Given the description of an element on the screen output the (x, y) to click on. 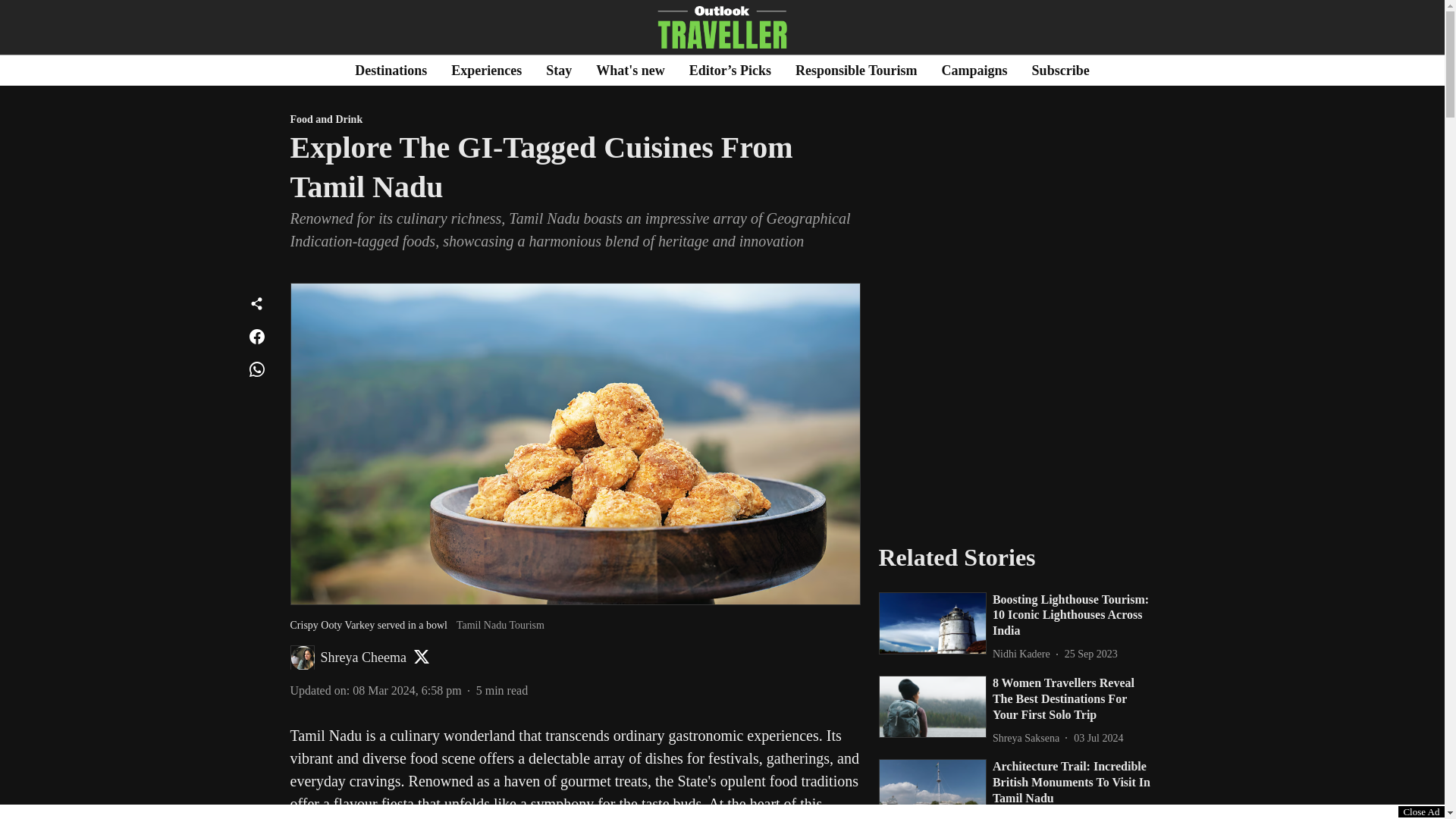
Subscribe (1060, 70)
3rd party ad content (1015, 407)
Stay (559, 70)
Food and Drink (574, 119)
Destinations (390, 70)
Experiences (486, 70)
Shreya Cheema (363, 657)
Responsible Tourism (855, 70)
2024-07-03 09:34 (1098, 738)
2023-09-25 09:18 (1091, 653)
2024-06-30 05:15 (1069, 816)
What's new (630, 70)
